Given the description of an element on the screen output the (x, y) to click on. 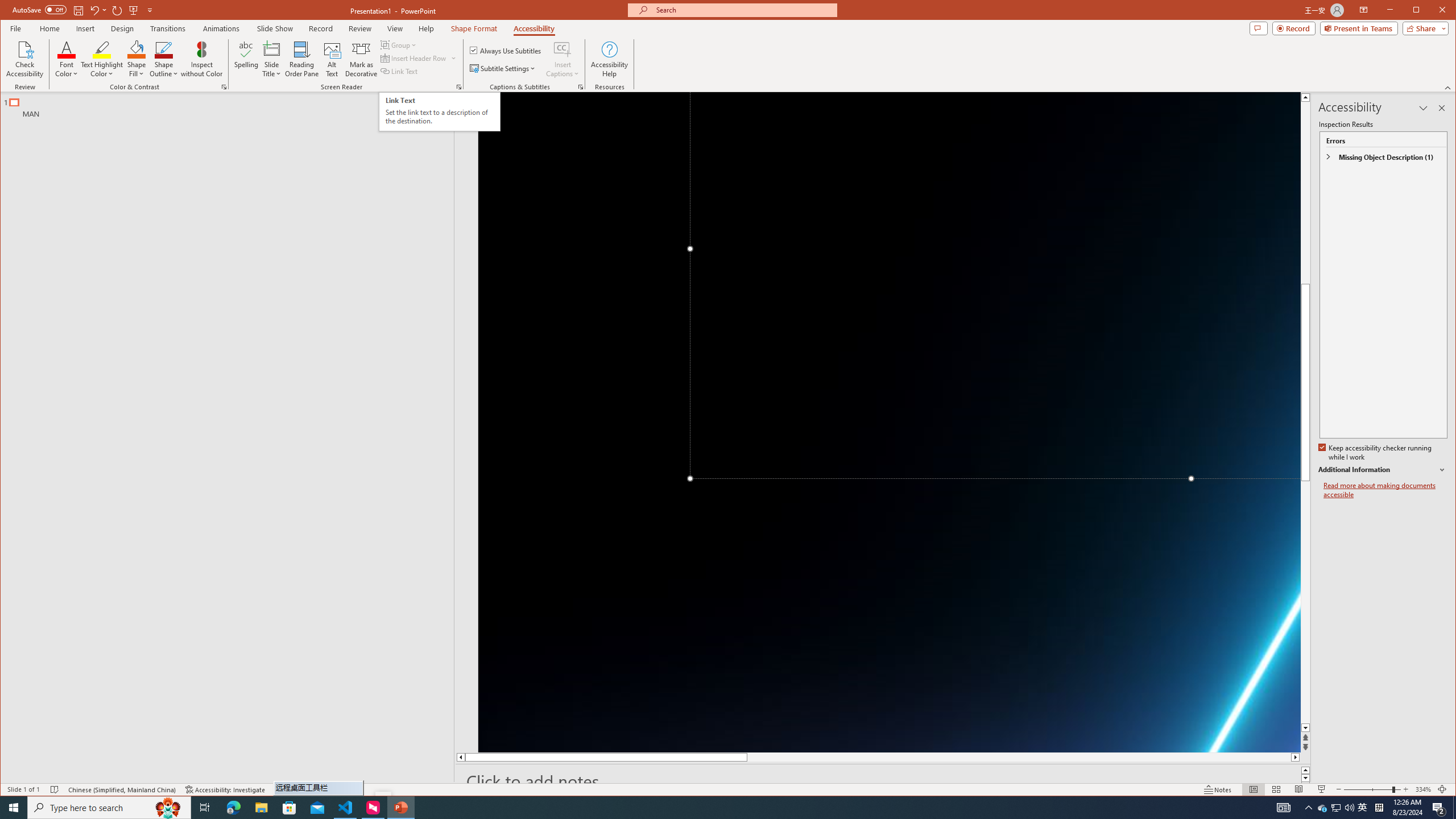
Slide Title (271, 48)
Insert Captions (562, 59)
Reading Order Pane (301, 59)
Text Highlight Color No Color (102, 48)
Insert Captions (562, 48)
